Given the description of an element on the screen output the (x, y) to click on. 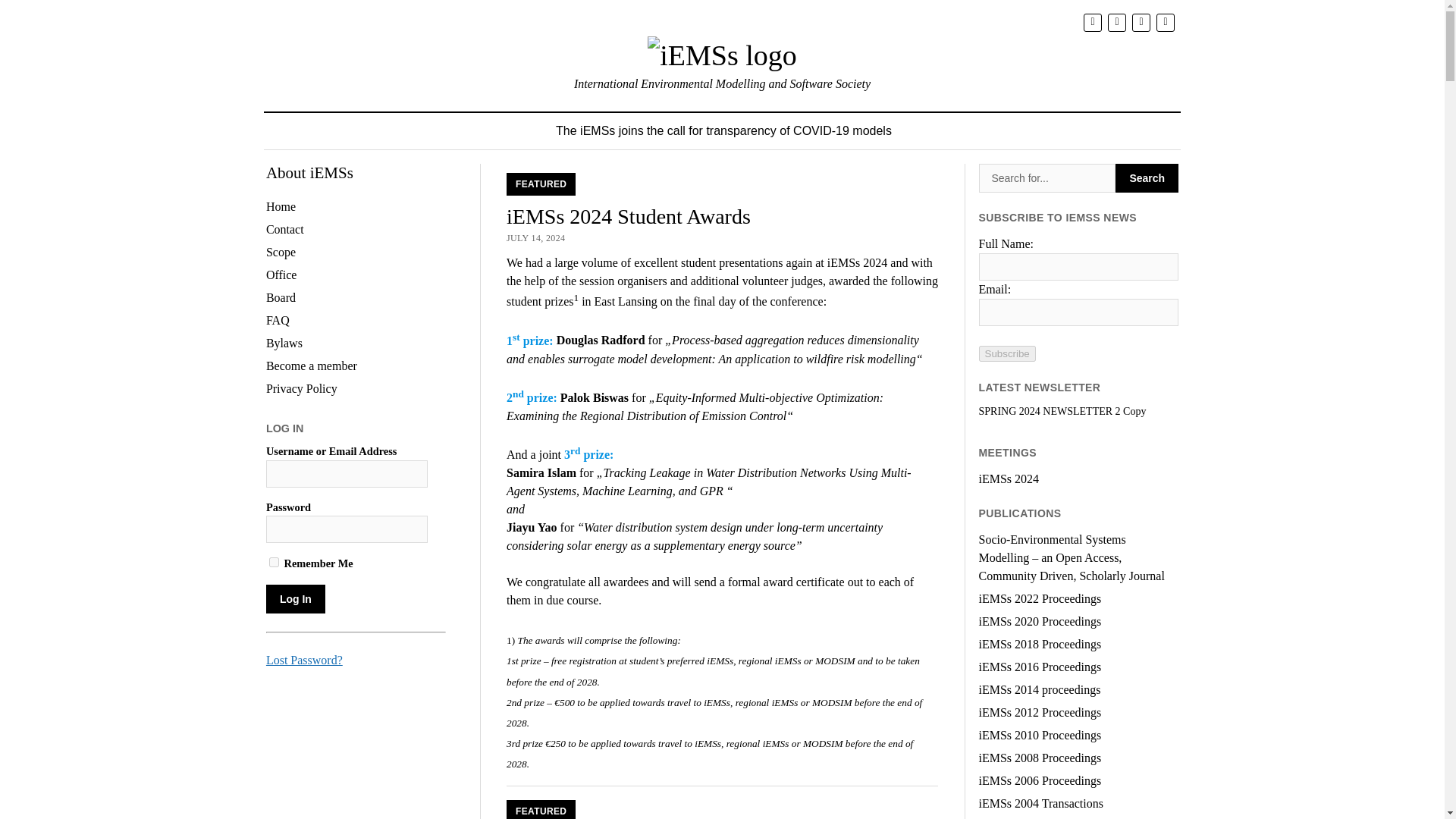
Become a member (311, 365)
Office (281, 274)
Contact (285, 228)
Bylaws (284, 342)
Home (280, 205)
Lost Password? (304, 659)
Search (1146, 177)
Search (1146, 177)
iEMSs 2024 Student Awards (628, 216)
Search (1047, 177)
